Given the description of an element on the screen output the (x, y) to click on. 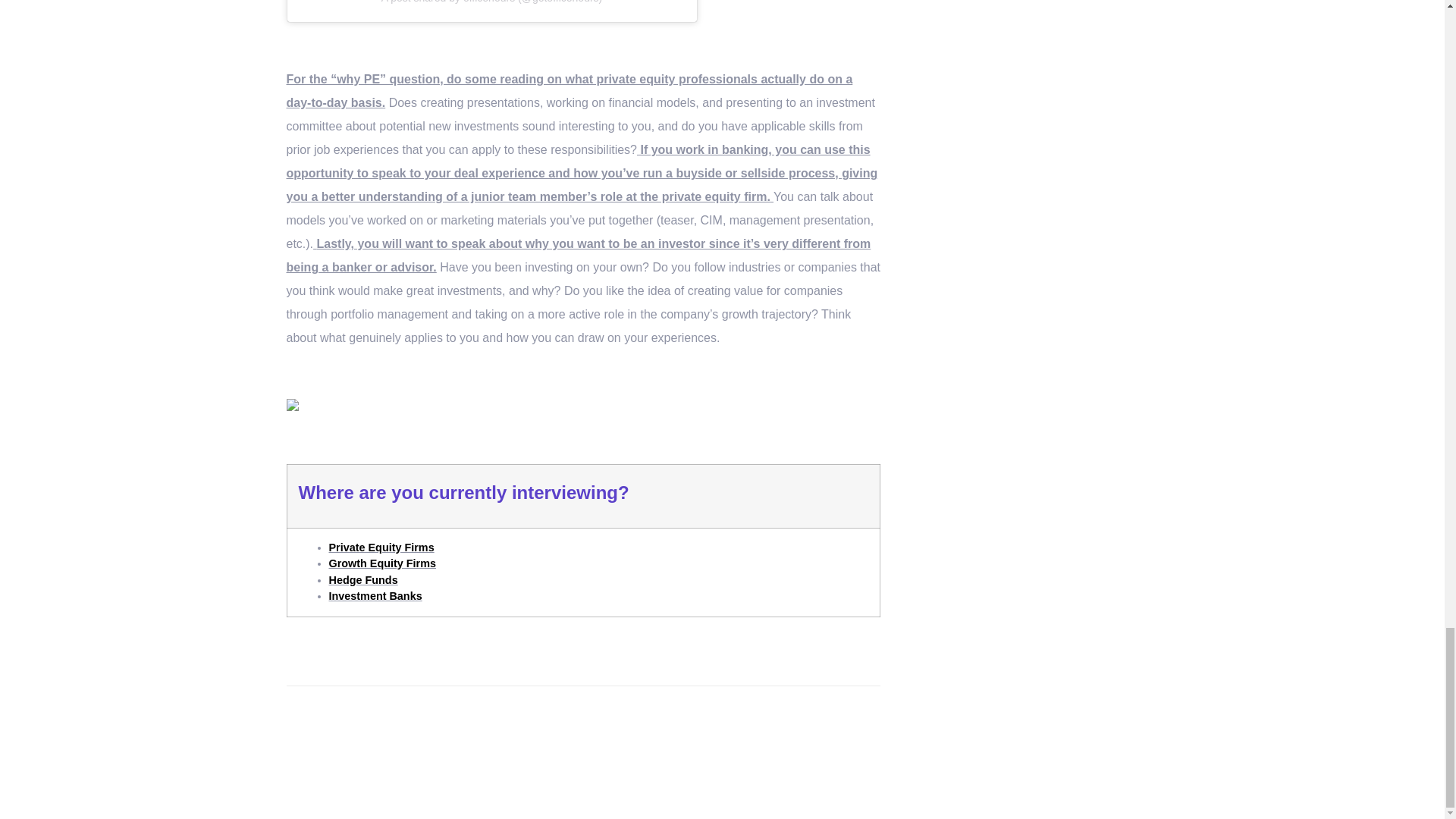
Growth Equity Firms (382, 563)
Hedge Funds (363, 580)
Private Equity Firms (381, 547)
Investment Banks (375, 595)
